Given the description of an element on the screen output the (x, y) to click on. 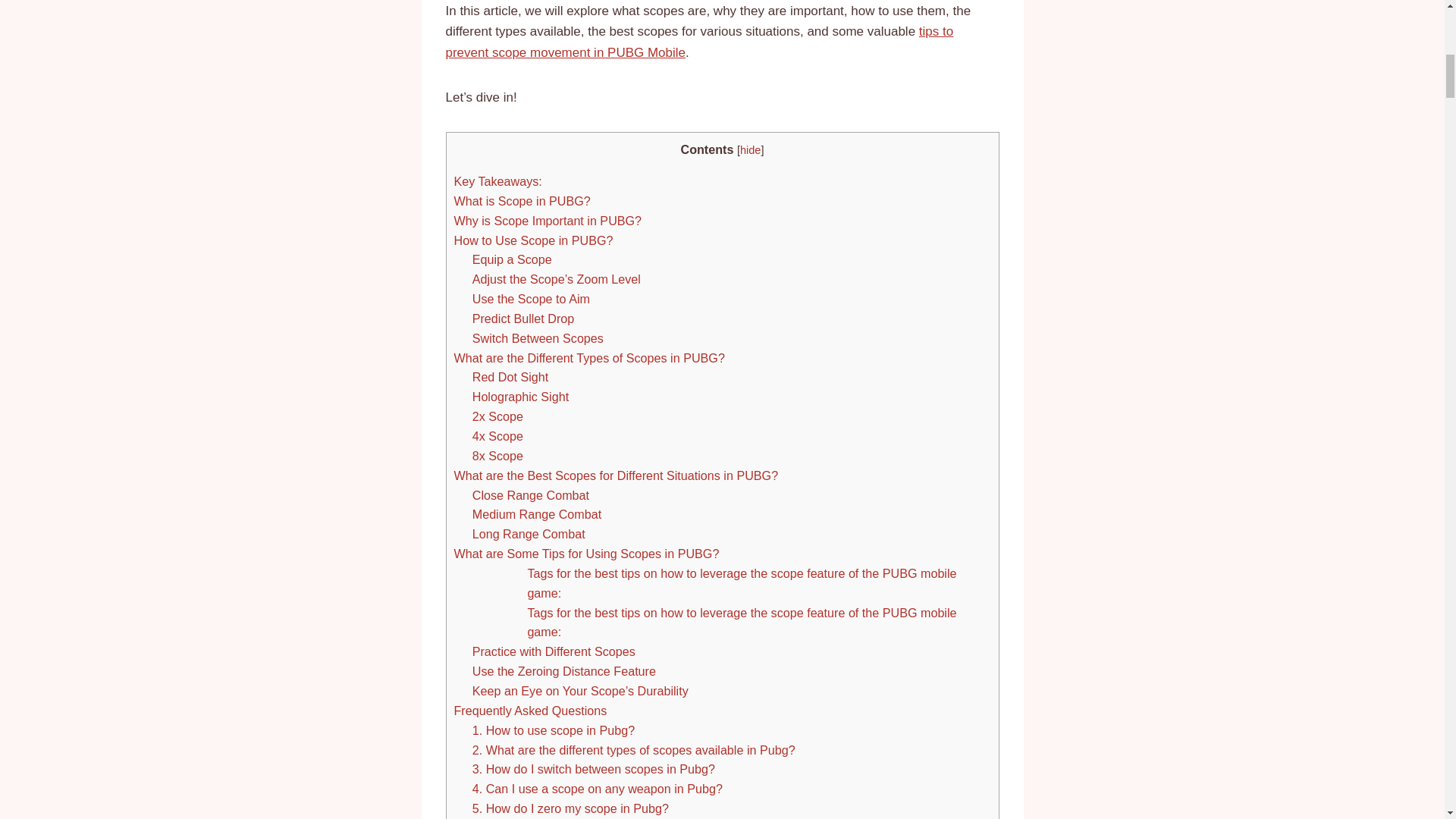
Use the Scope to Aim (530, 298)
hide (749, 150)
4x Scope (496, 436)
Equip a Scope (511, 259)
Long Range Combat (528, 533)
Key Takeaways: (496, 181)
What are the Different Types of Scopes in PUBG? (587, 357)
Medium Range Combat (536, 513)
What are Some Tips for Using Scopes in PUBG? (585, 553)
Switch Between Scopes (537, 337)
2x Scope (496, 416)
Predict Bullet Drop (523, 318)
Why is Scope Important in PUBG? (547, 220)
Red Dot Sight (509, 377)
Holographic Sight (520, 396)
